Given the description of an element on the screen output the (x, y) to click on. 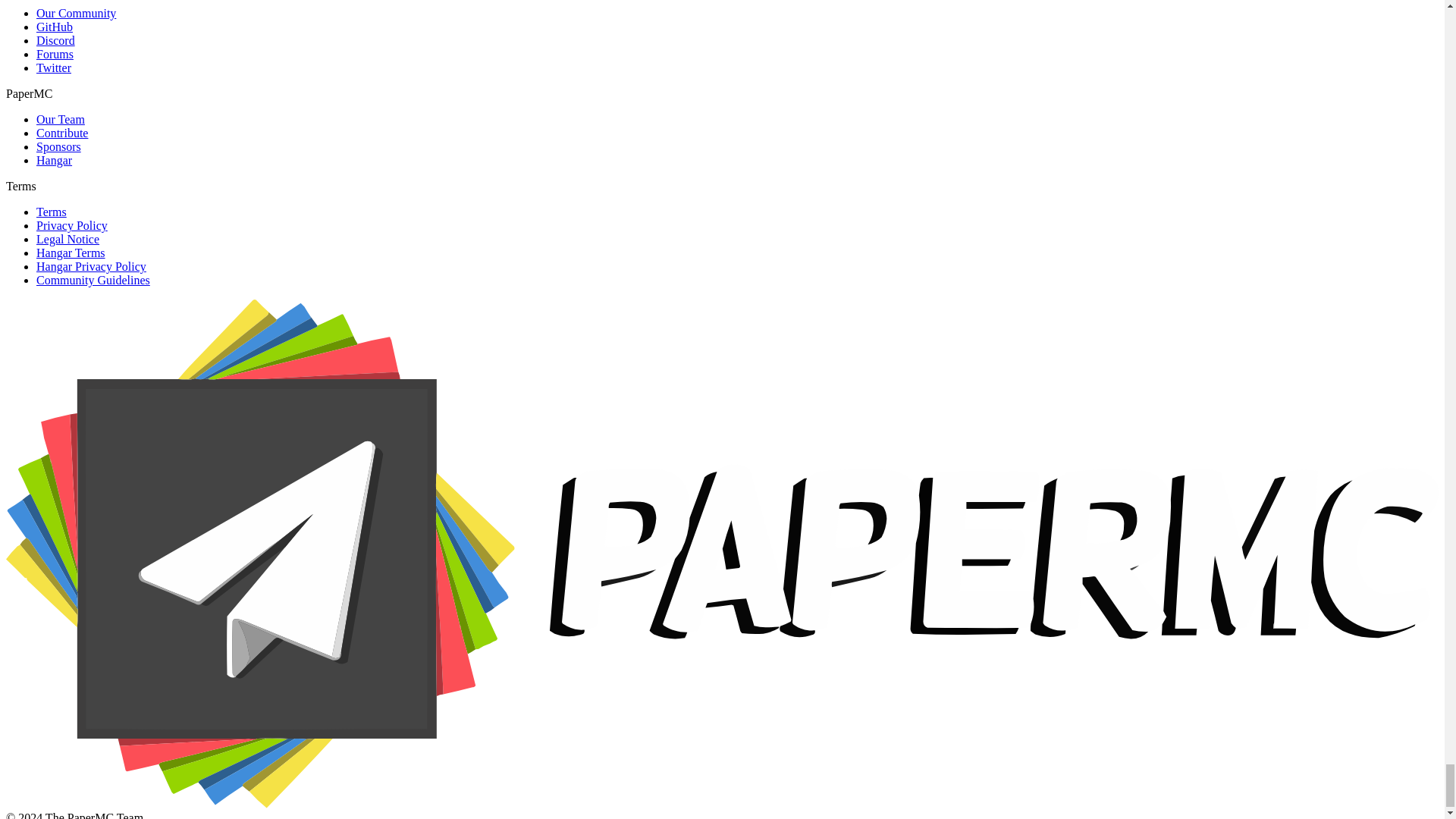
Terms (51, 211)
Contribute (61, 132)
Twitter (53, 67)
Discord (55, 40)
Our Team (60, 119)
Privacy Policy (71, 225)
Forums (55, 53)
Legal Notice (67, 238)
Hangar Terms (70, 252)
GitHub (54, 26)
Community Guidelines (92, 279)
Hangar (53, 160)
Sponsors (58, 146)
Our Community (76, 12)
Hangar Privacy Policy (91, 266)
